Given the description of an element on the screen output the (x, y) to click on. 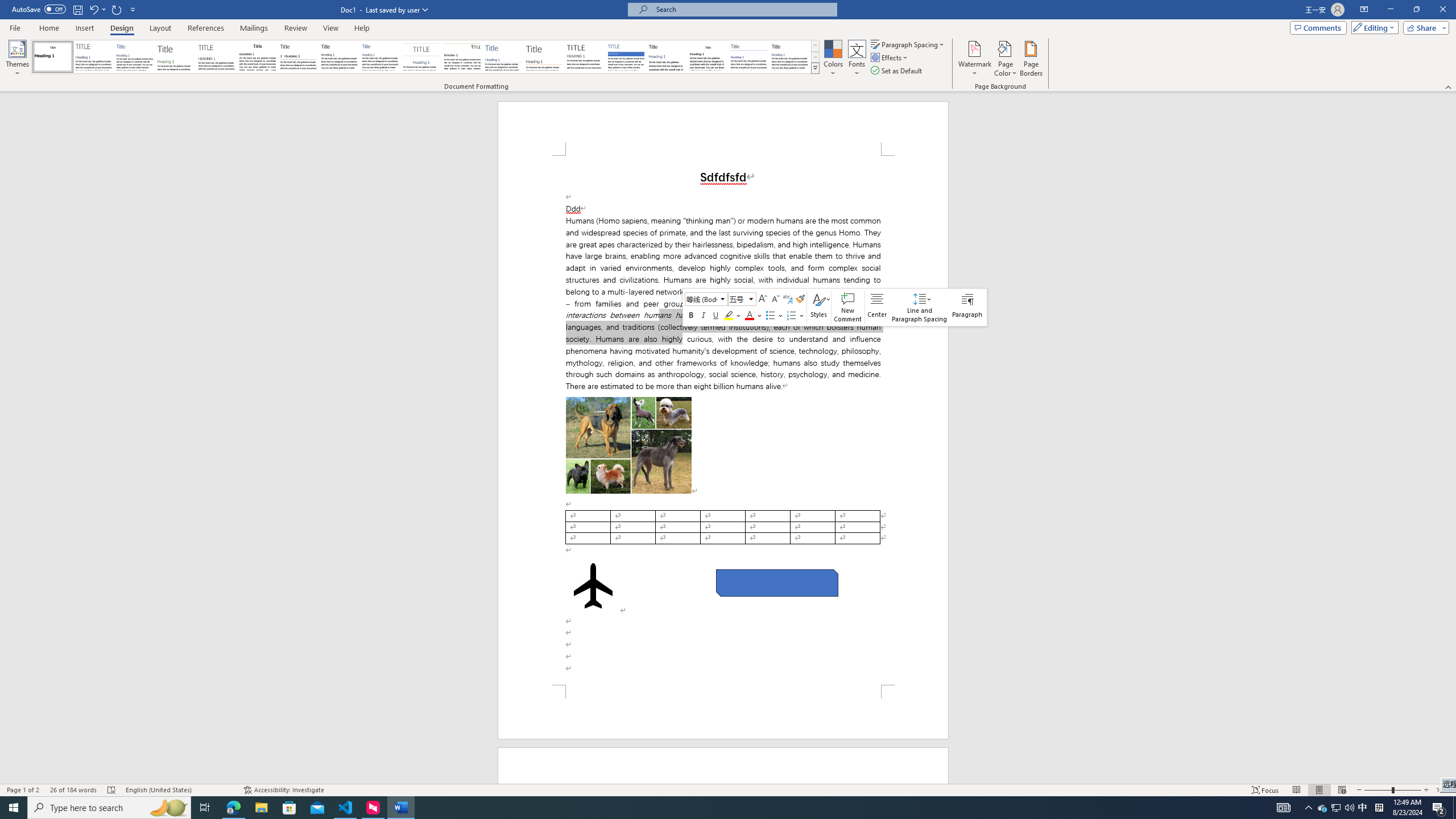
Basic (Stylish) (175, 56)
Lines (Distinctive) (462, 56)
Basic (Simple) (135, 56)
Document (52, 56)
Font Color Red (749, 315)
Effects (890, 56)
Zoom 100% (1443, 790)
Rectangle: Diagonal Corners Snipped 2 (777, 582)
Class: NetUIComboboxAnchor (742, 299)
